Given the description of an element on the screen output the (x, y) to click on. 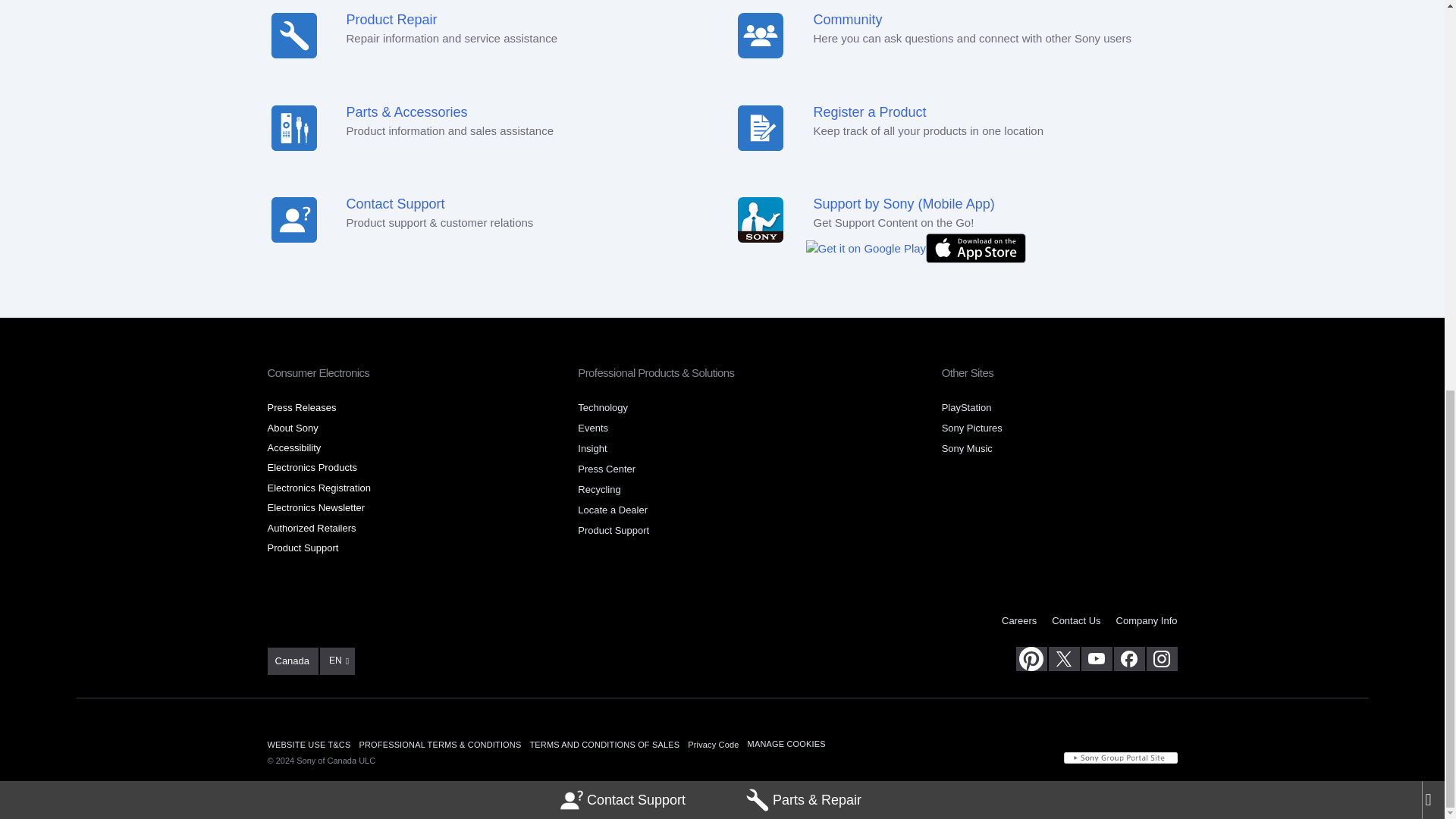
Contact Support (622, 54)
